Given the description of an element on the screen output the (x, y) to click on. 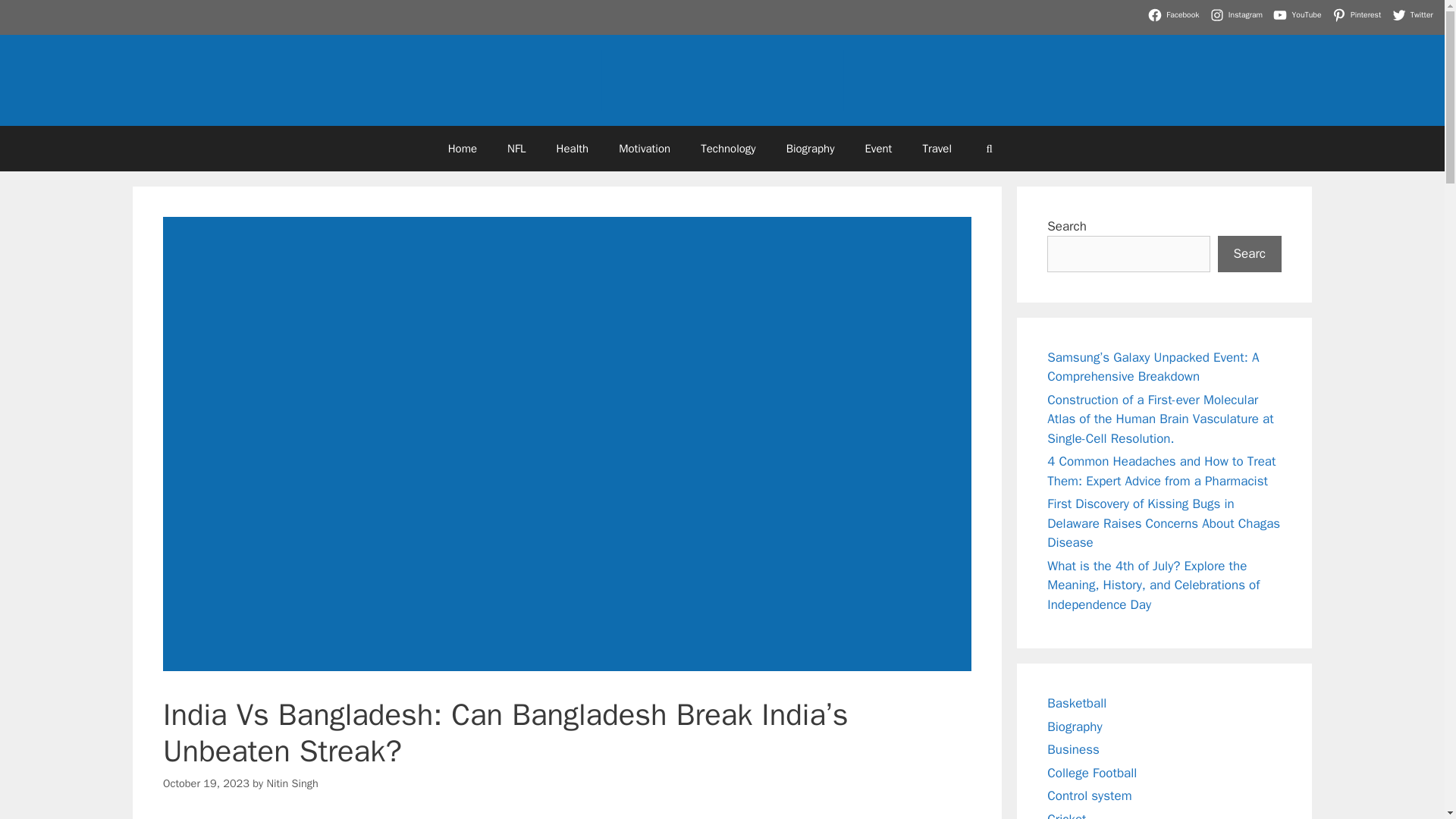
Motivation (644, 148)
View all posts by Nitin Singh (291, 783)
Pinterest (1359, 14)
Nitin Singh (291, 783)
Travel (936, 148)
NFL (516, 148)
Event (877, 148)
Technology (728, 148)
Facebook (1175, 14)
Biography (810, 148)
Home (462, 148)
YouTube (1298, 14)
Instagram (1237, 14)
Twitter (1414, 14)
Health (572, 148)
